Given the description of an element on the screen output the (x, y) to click on. 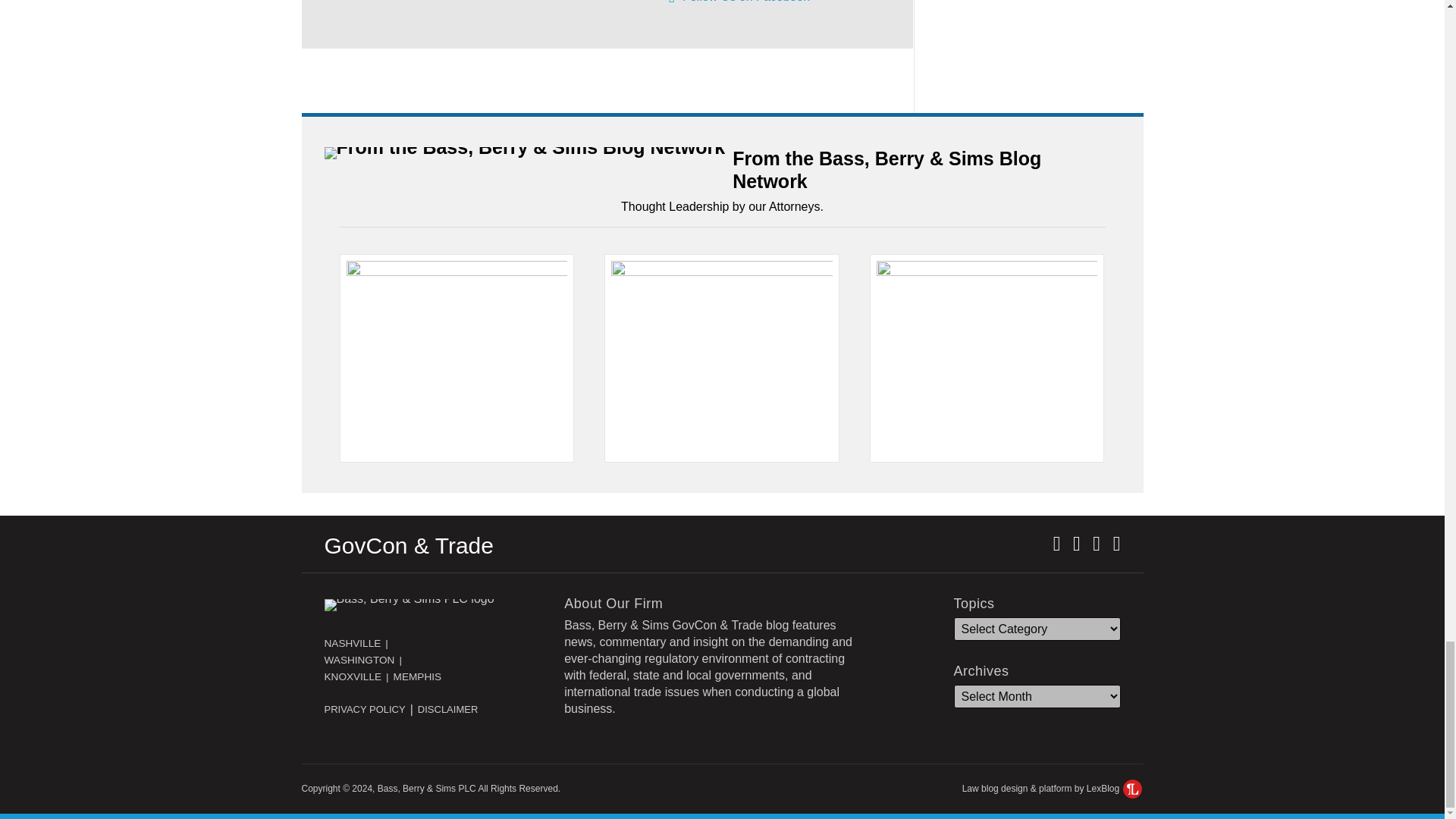
LexBlog Logo (1131, 788)
